Given the description of an element on the screen output the (x, y) to click on. 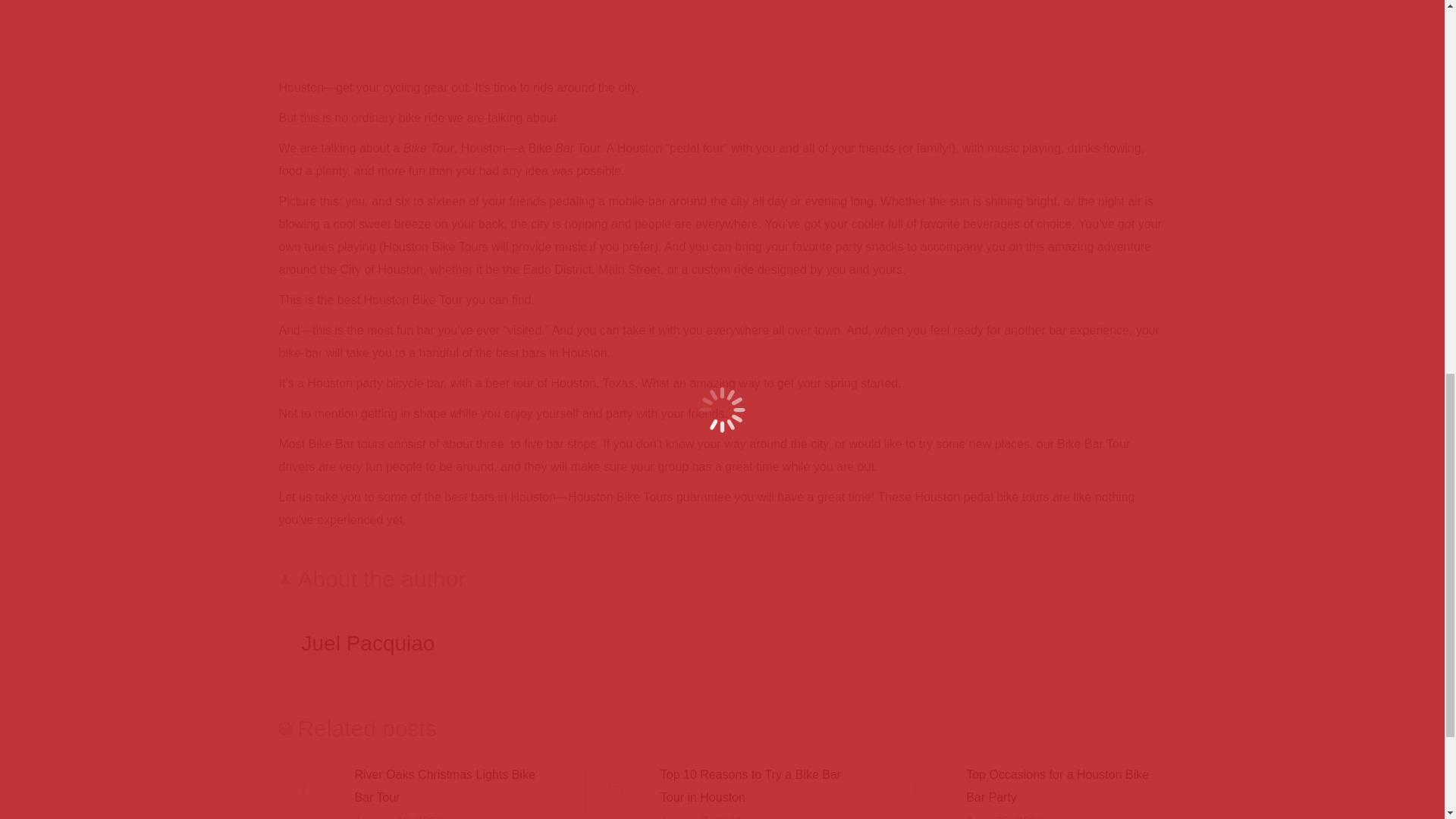
Top Occasions for a Houston Bike Bar Party (1066, 786)
Top 10 Reasons to Try a Bike Bar Tour in Houston (760, 786)
River Oaks Christmas Lights Bike Bar Tour (454, 786)
